Given the description of an element on the screen output the (x, y) to click on. 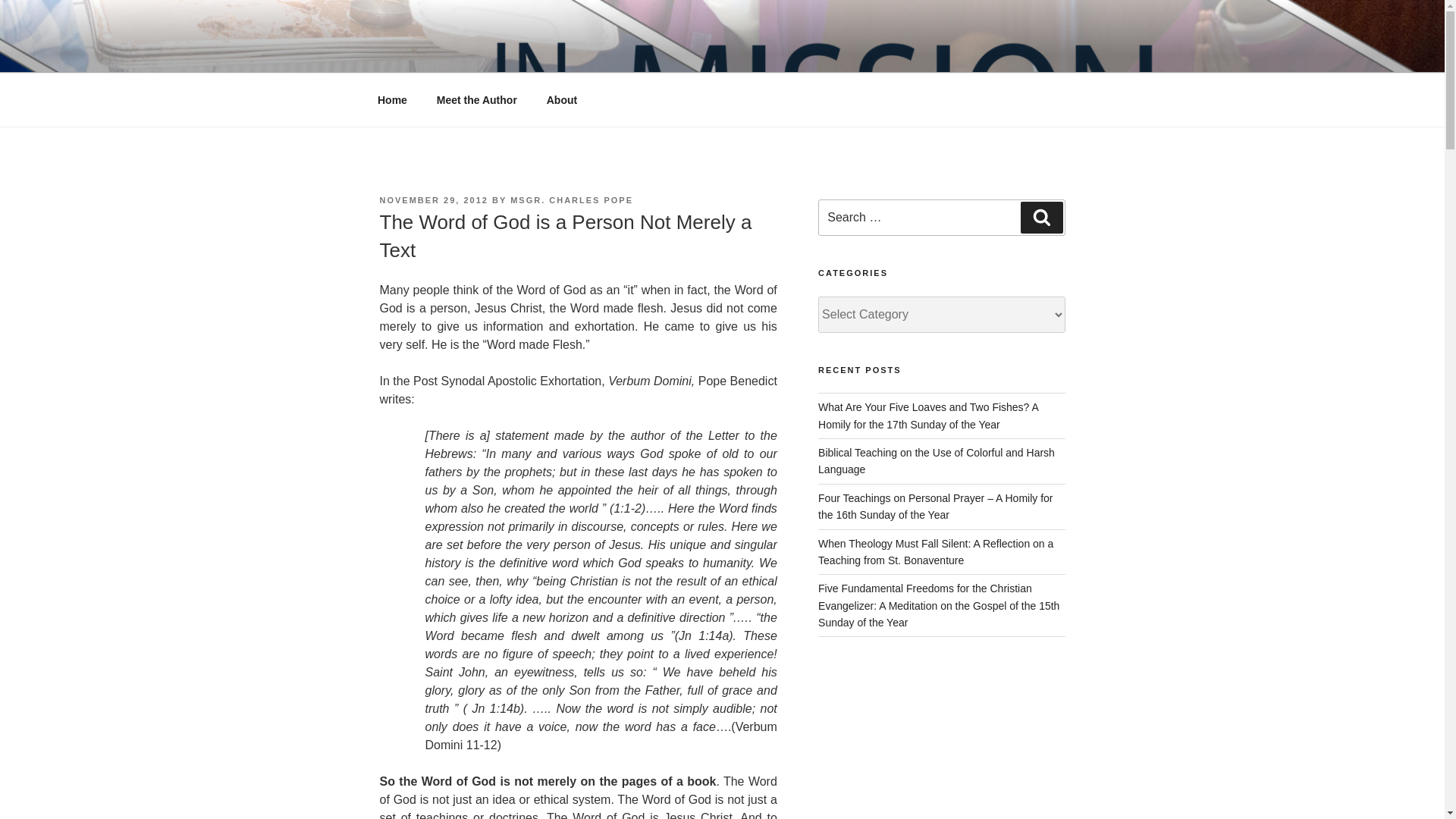
Search (1041, 217)
About (560, 99)
Biblical Teaching on the Use of Colorful and Harsh Language (936, 460)
MSGR. CHARLES POPE (572, 199)
Home (392, 99)
Meet the Author (476, 99)
COMMUNITY IN MISSION (563, 52)
